Given the description of an element on the screen output the (x, y) to click on. 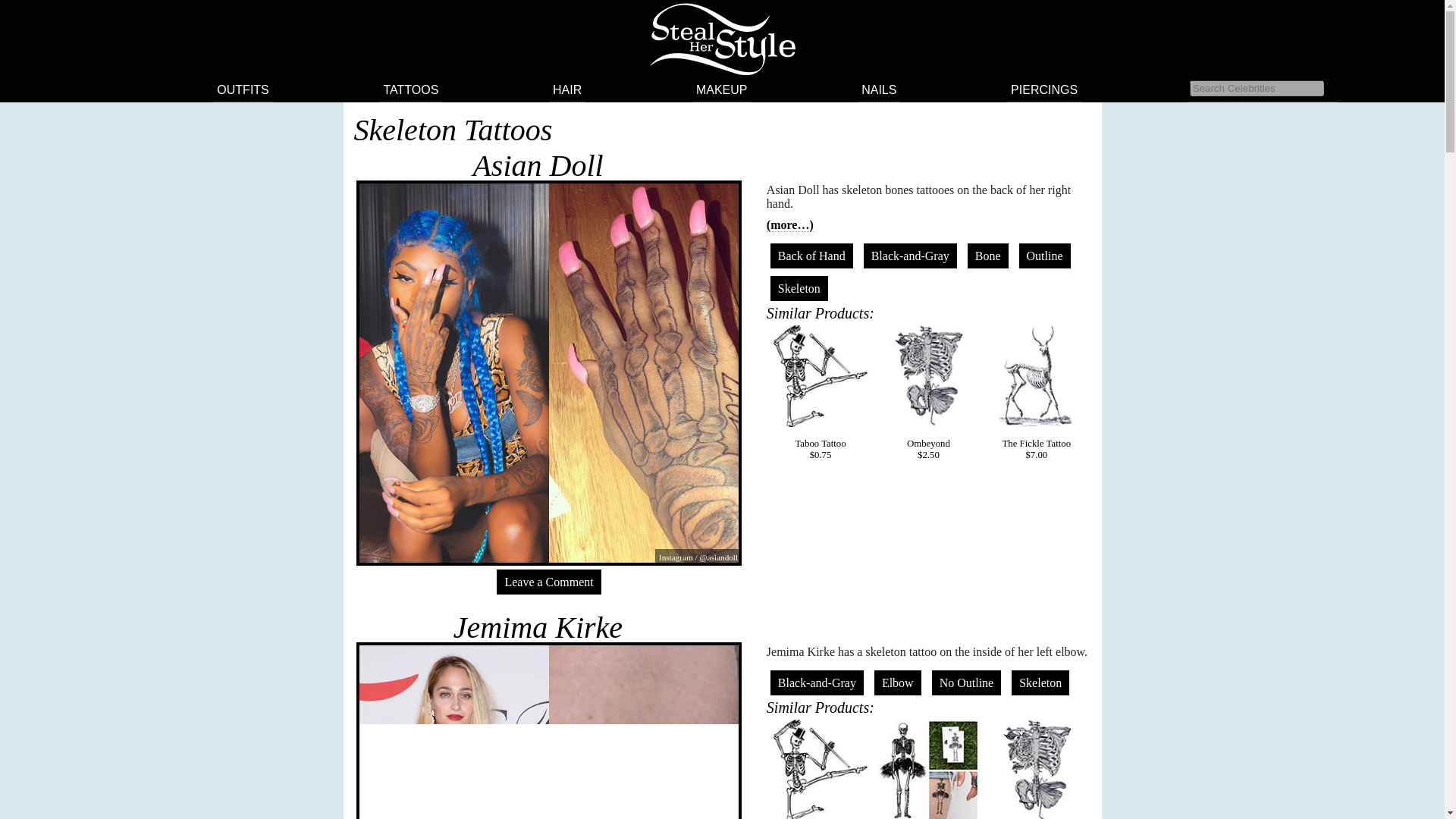
MAKEUP (722, 89)
Outline (1044, 255)
Asian Doll tattoos (536, 165)
The Fickle Tattoo Deer Skeleton Temporary Tattoo -  (1036, 375)
Bone (988, 255)
OUTFITS (242, 89)
NAILS (878, 89)
Jemima Kirke (537, 627)
Asian Doll (536, 165)
TATTOOS (410, 89)
Leave a Comment (547, 581)
Jemima Kirke tattoos (537, 627)
PIERCINGS (1044, 89)
